Given the description of an element on the screen output the (x, y) to click on. 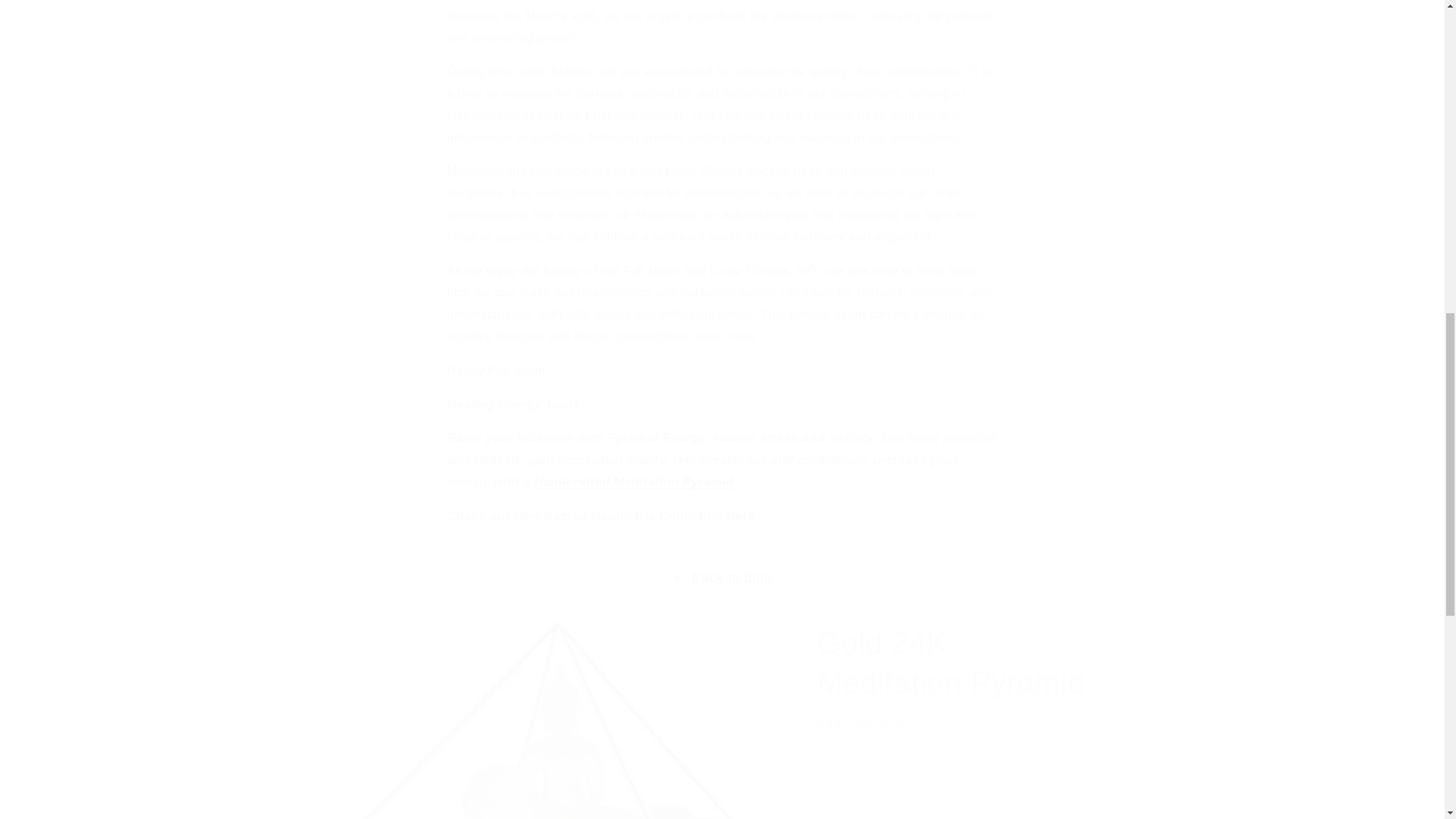
Open media 1 in modal (533, 708)
1 (870, 785)
